Given the description of an element on the screen output the (x, y) to click on. 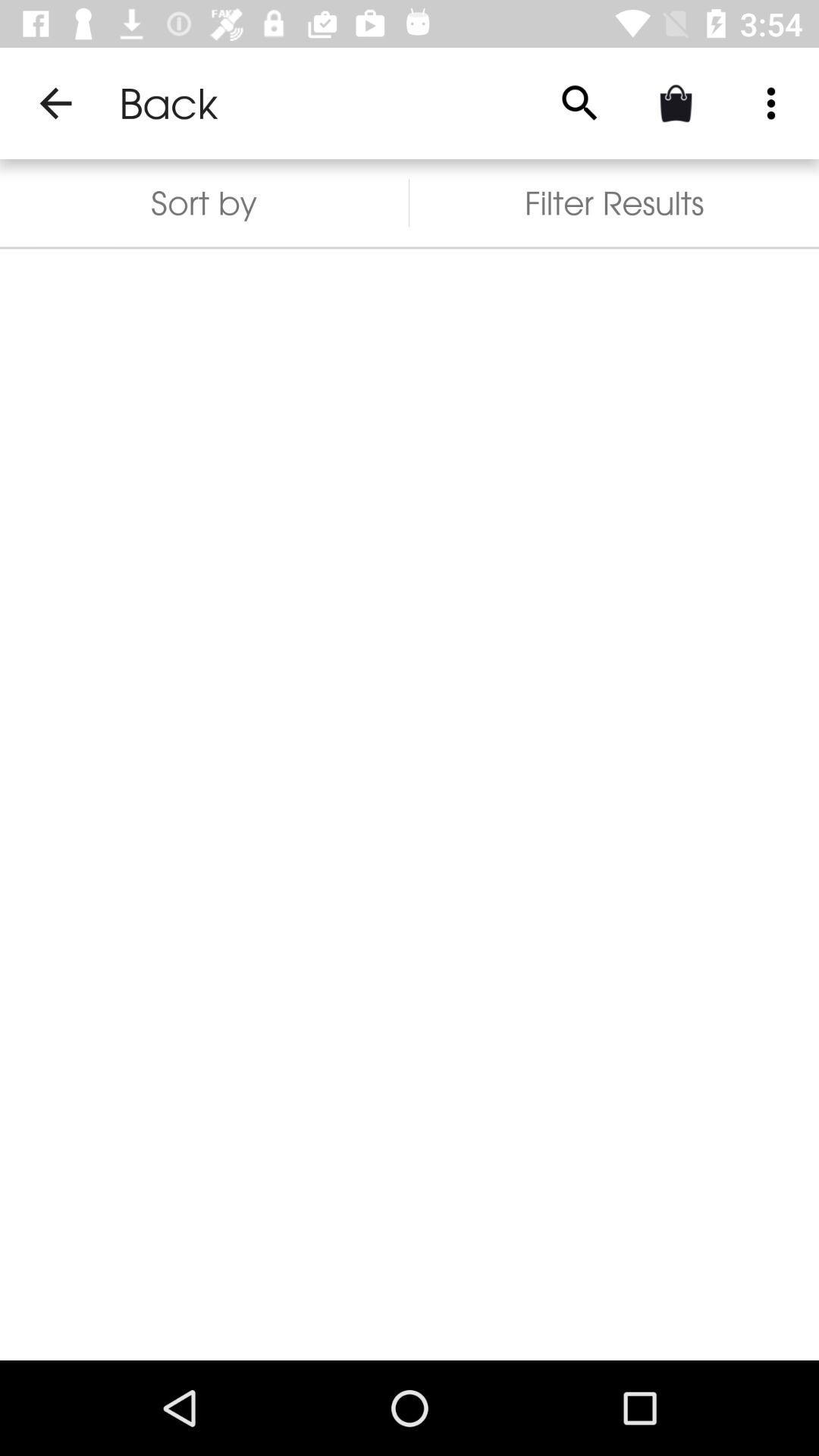
turn on filter results icon (614, 202)
